Given the description of an element on the screen output the (x, y) to click on. 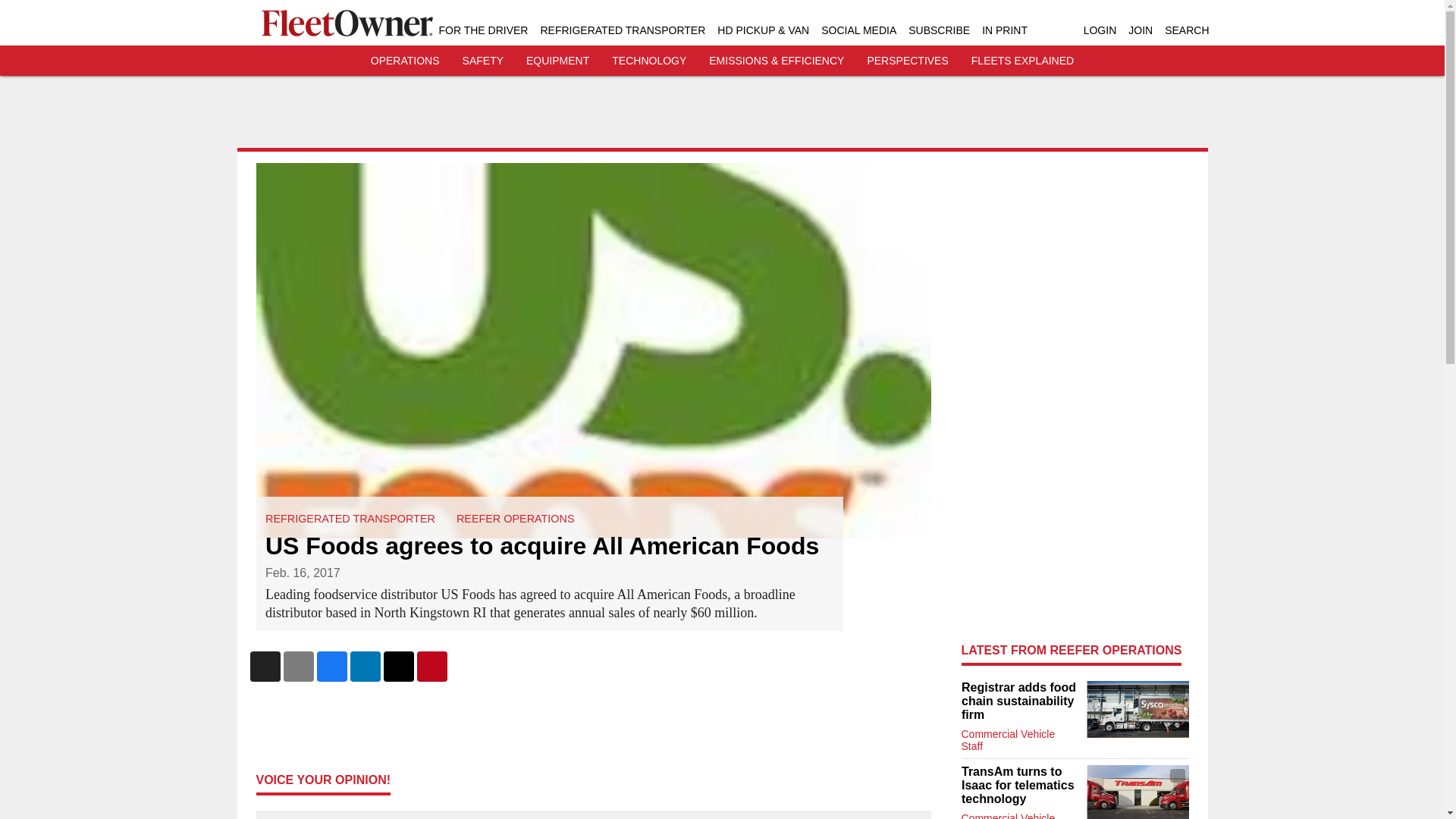
SEARCH (1186, 30)
JOIN (1140, 30)
TECHNOLOGY (648, 60)
IN PRINT (1004, 30)
OPERATIONS (405, 60)
SOCIAL MEDIA (858, 30)
LOGIN (1099, 30)
FLEETS EXPLAINED (1022, 60)
PERSPECTIVES (906, 60)
SAFETY (483, 60)
REFRIGERATED TRANSPORTER (622, 30)
SUBSCRIBE (938, 30)
EQUIPMENT (557, 60)
FOR THE DRIVER (482, 30)
